Given the description of an element on the screen output the (x, y) to click on. 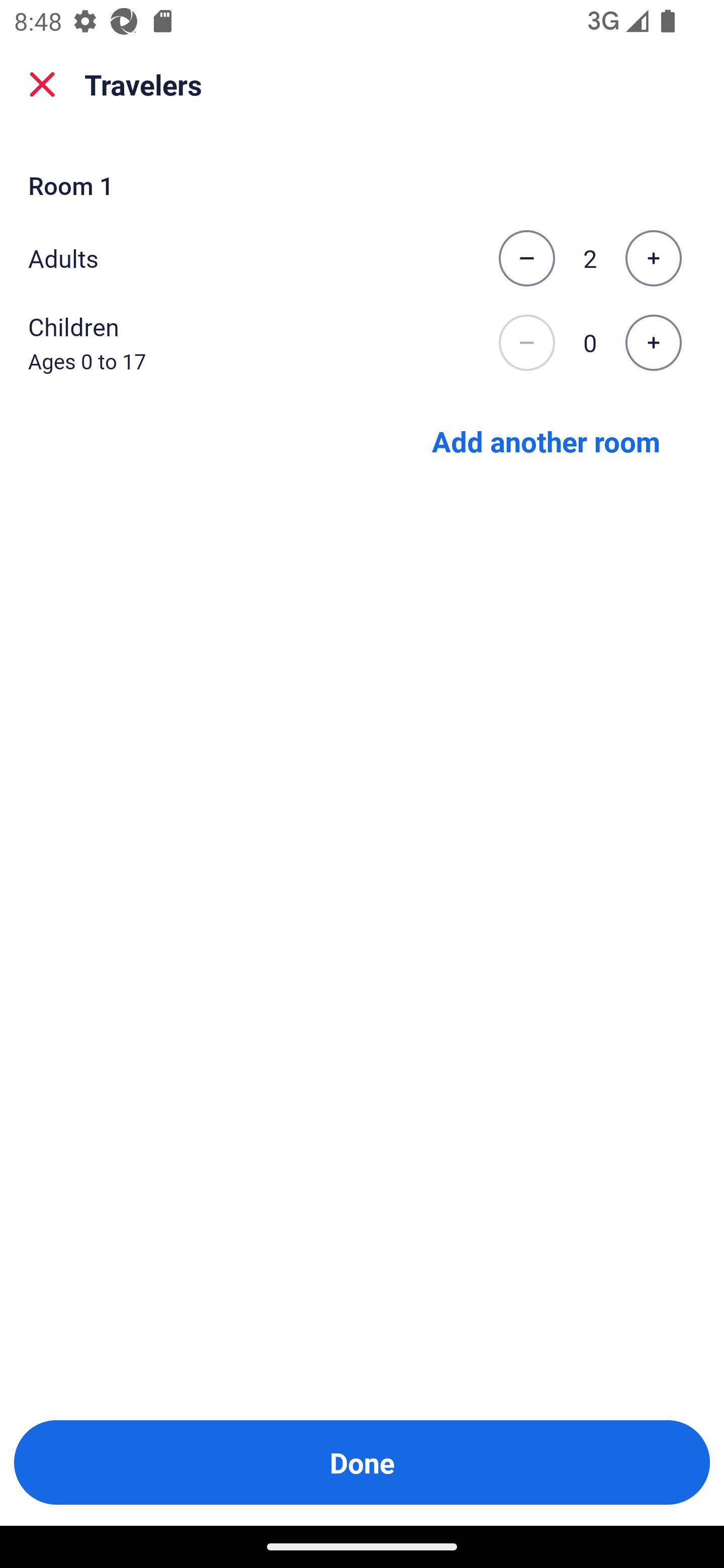
close (42, 84)
Decrease the number of adults (526, 258)
Increase the number of adults (653, 258)
Decrease the number of children (526, 343)
Increase the number of children (653, 343)
Add another room (545, 440)
Done (361, 1462)
